Given the description of an element on the screen output the (x, y) to click on. 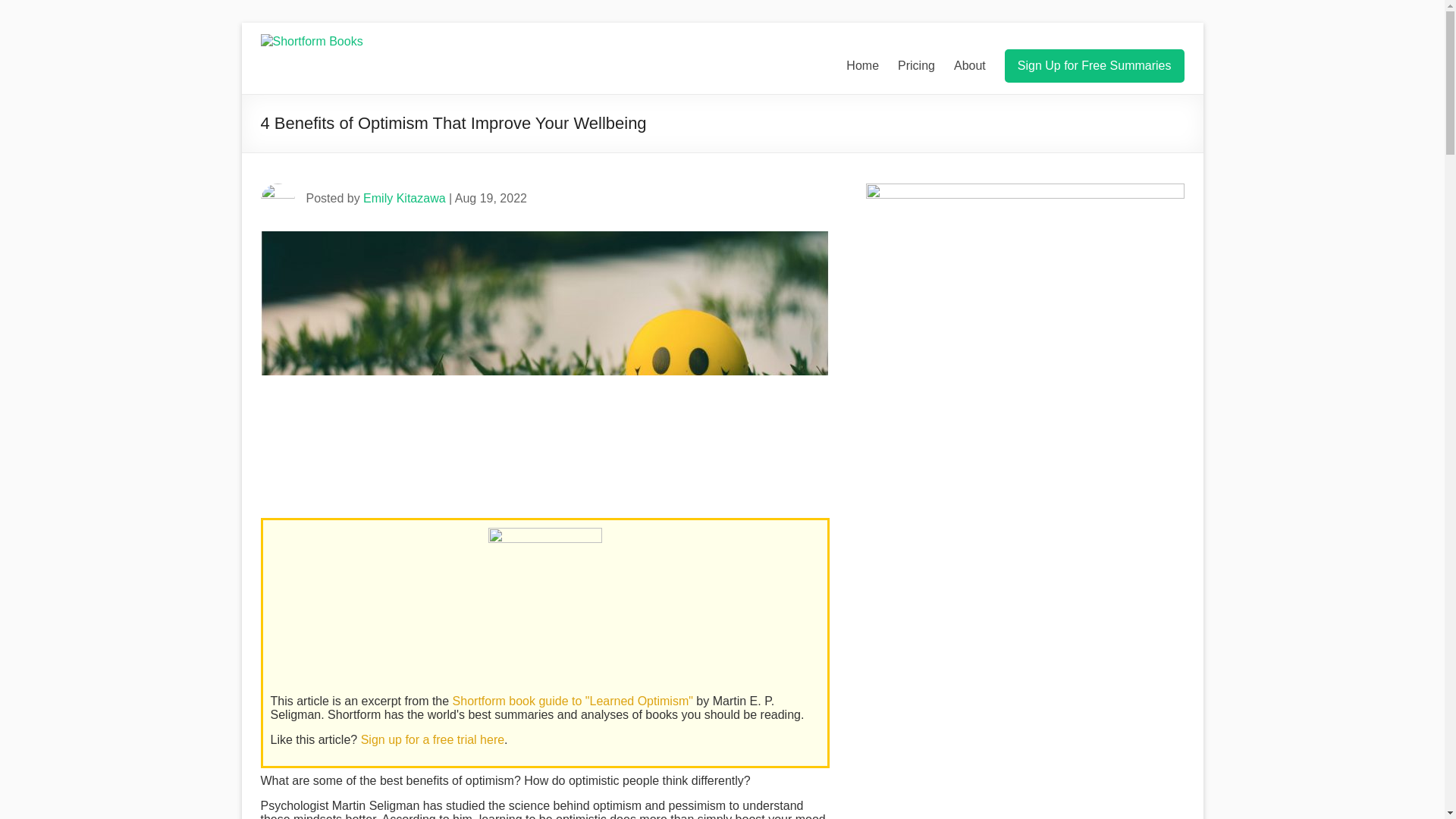
Sign Up for Free Summaries (1094, 65)
Pricing (916, 65)
Emily Kitazawa (403, 197)
Shortform book guide to "Learned Optimism" (572, 700)
Sign up for a free trial here (432, 739)
About (969, 65)
Home (862, 65)
